Given the description of an element on the screen output the (x, y) to click on. 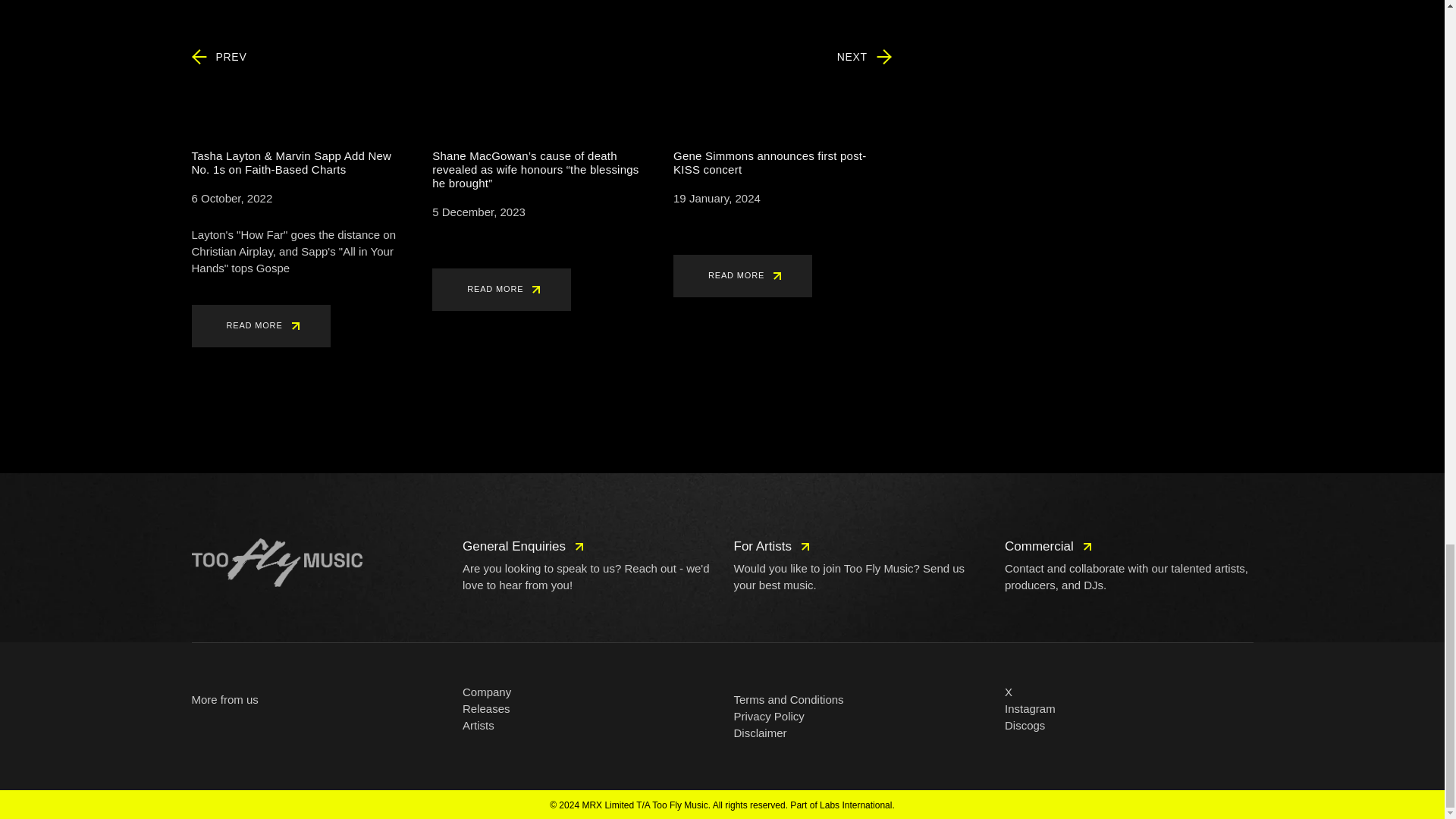
Title Text:  (478, 211)
Title Text:  (231, 198)
Title Text:  (716, 198)
